Given the description of an element on the screen output the (x, y) to click on. 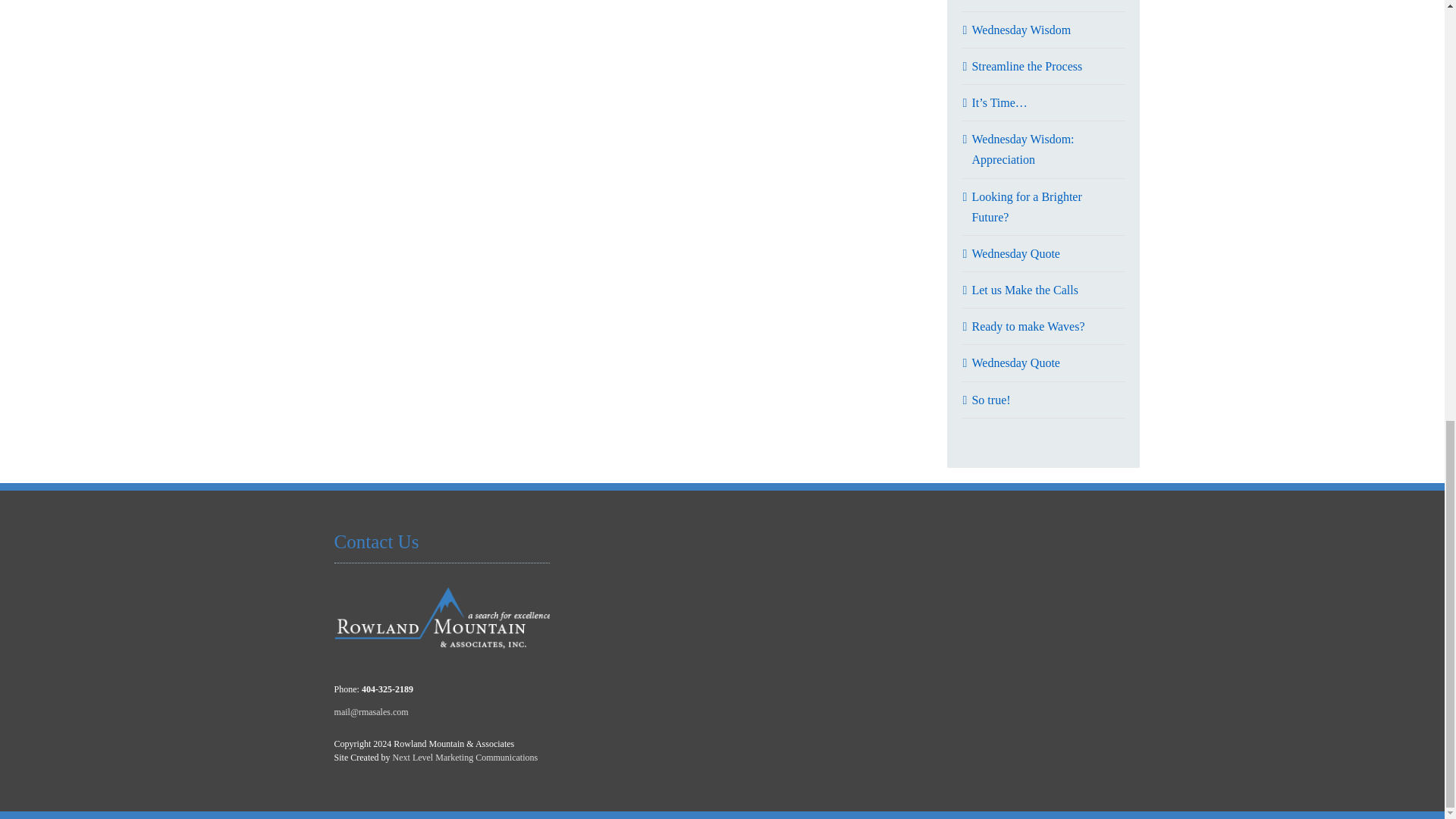
Let us Make the Calls (1024, 289)
Wednesday Wisdom: Appreciation (1022, 149)
Looking for a Brighter Future? (1026, 205)
Ready to make Waves? (1027, 326)
Wednesday Wisdom (1020, 29)
Wednesday Quote (1015, 253)
rma-LOGO-white (442, 618)
Streamline the Process (1026, 65)
